Given the description of an element on the screen output the (x, y) to click on. 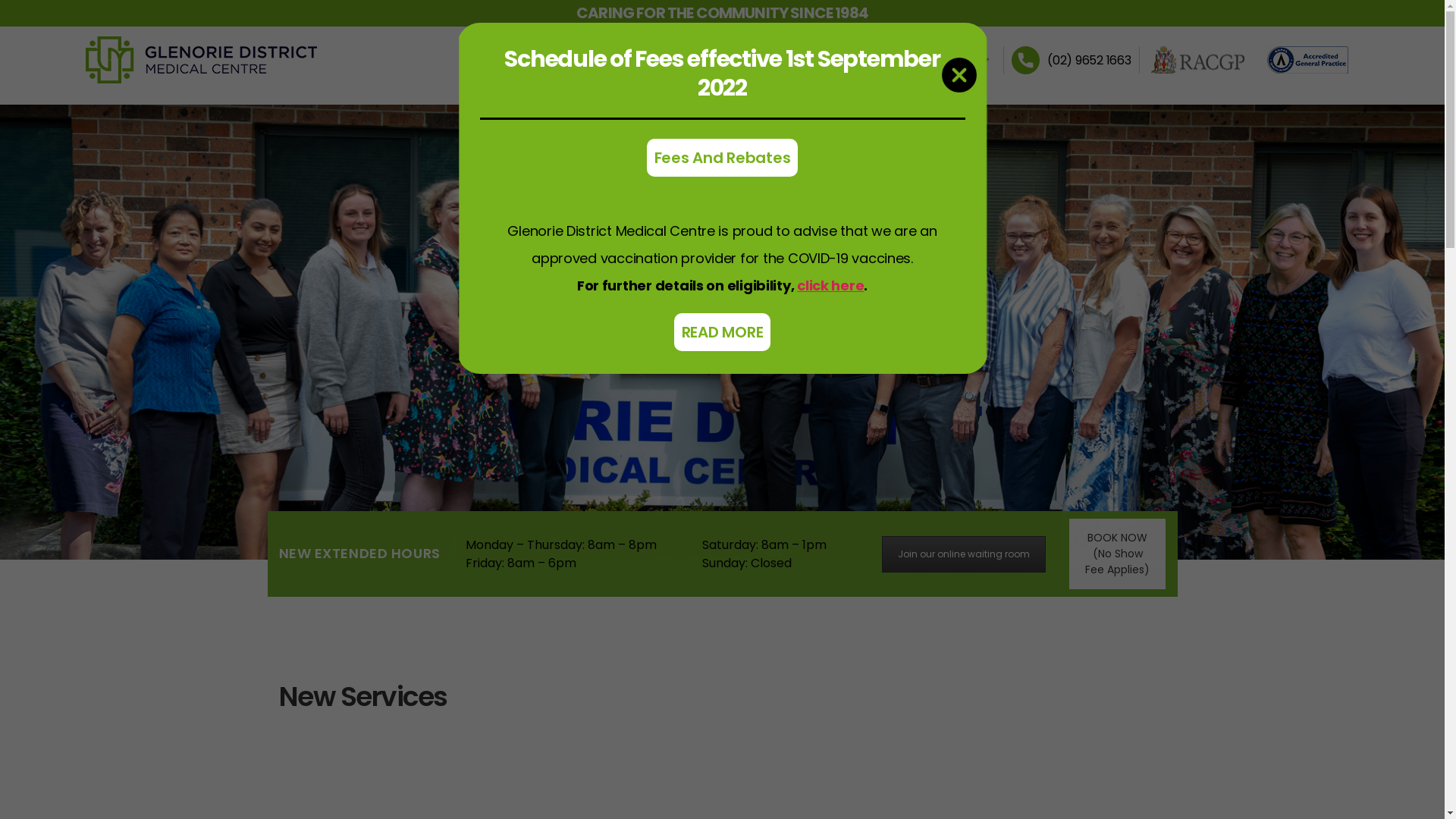
READ MORE Element type: text (722, 332)
ABOUT US Element type: text (718, 59)
SERVICES Element type: text (793, 59)
RESOURCES Element type: text (865, 59)
HOME Element type: text (658, 59)
Fees And Rebates Element type: text (722, 157)
Join our online waiting room Element type: text (963, 553)
click here Element type: text (830, 285)
(02) 9652 1663 Element type: text (1088, 59)
LATEST NEWS Element type: text (946, 59)
BOOK NOW (No Show Fee Applies) Element type: text (1117, 553)
